Given the description of an element on the screen output the (x, y) to click on. 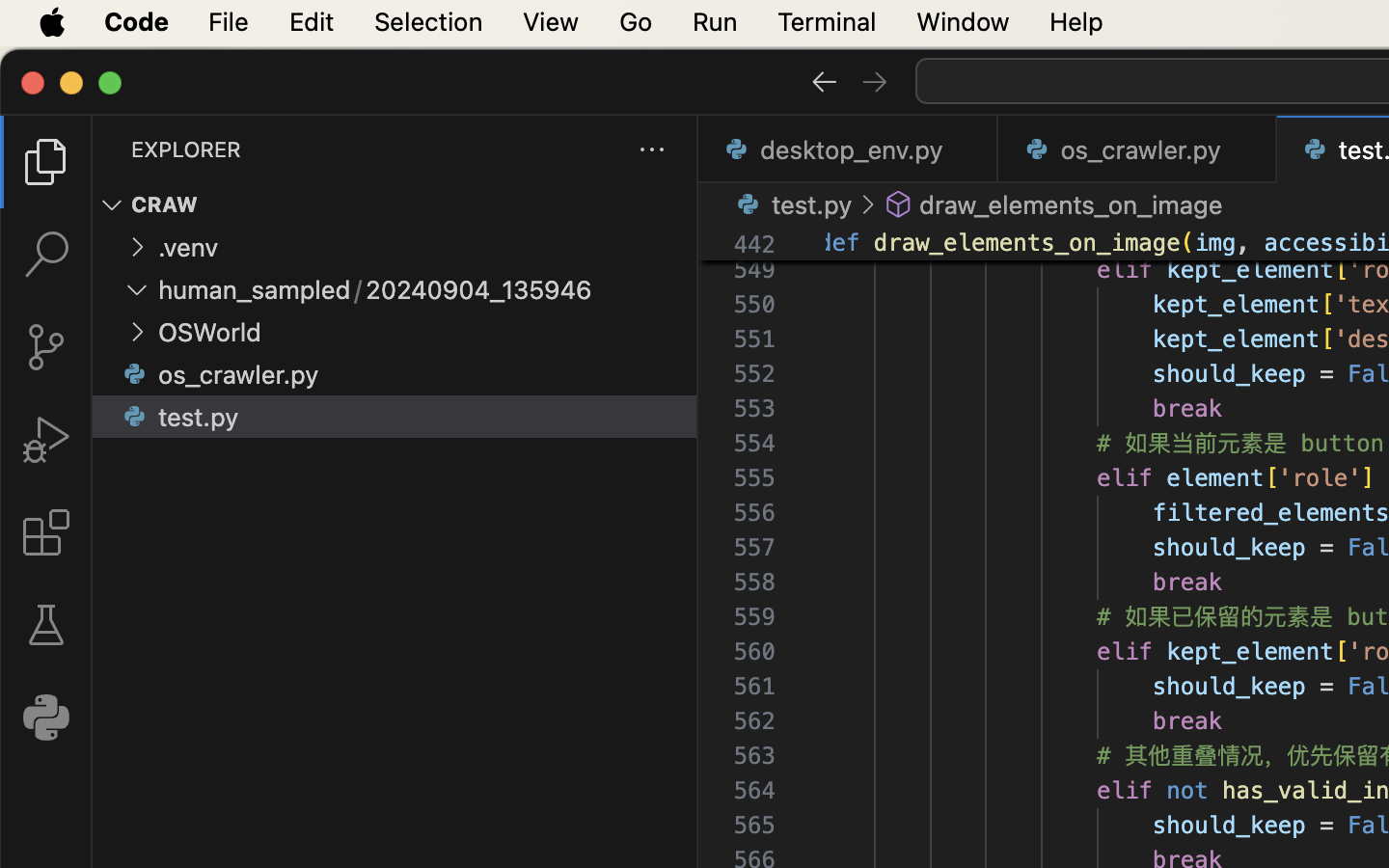
def Element type: AXStaticText (842, 242)
 Element type: AXButton (824, 80)
human_sampled Element type: AXStaticText (254, 289)
EXPLORER Element type: AXStaticText (186, 149)
